Given the description of an element on the screen output the (x, y) to click on. 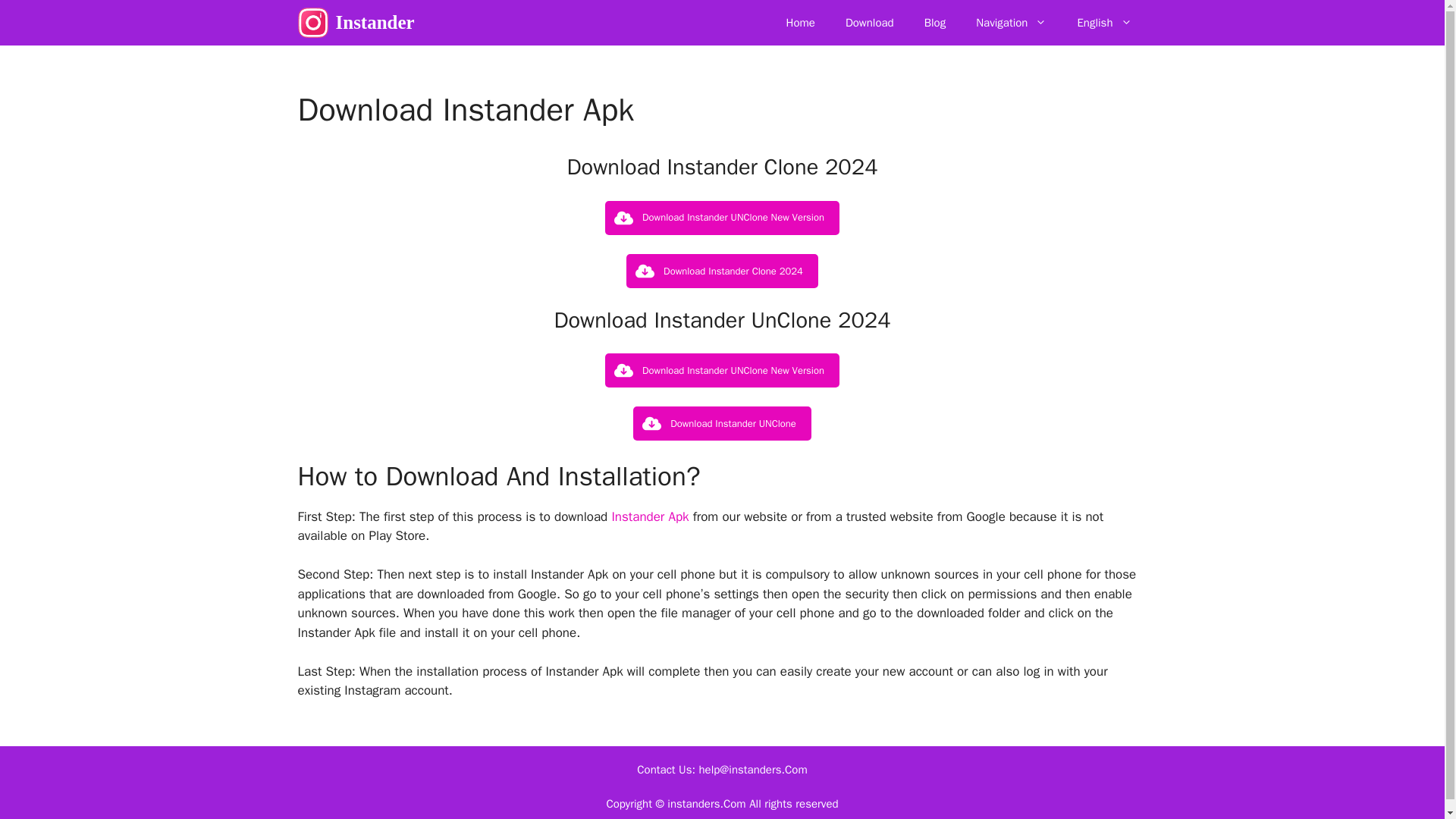
Instander (373, 22)
Download Instander UNClone New Version (722, 217)
English (1104, 22)
Home (800, 22)
Download Instander UNClone New Version (722, 369)
Download (868, 22)
Navigation (1010, 22)
Instander Apk (649, 516)
Download Instander Clone 2024 (722, 270)
Download Instander UNClone (721, 423)
